Given the description of an element on the screen output the (x, y) to click on. 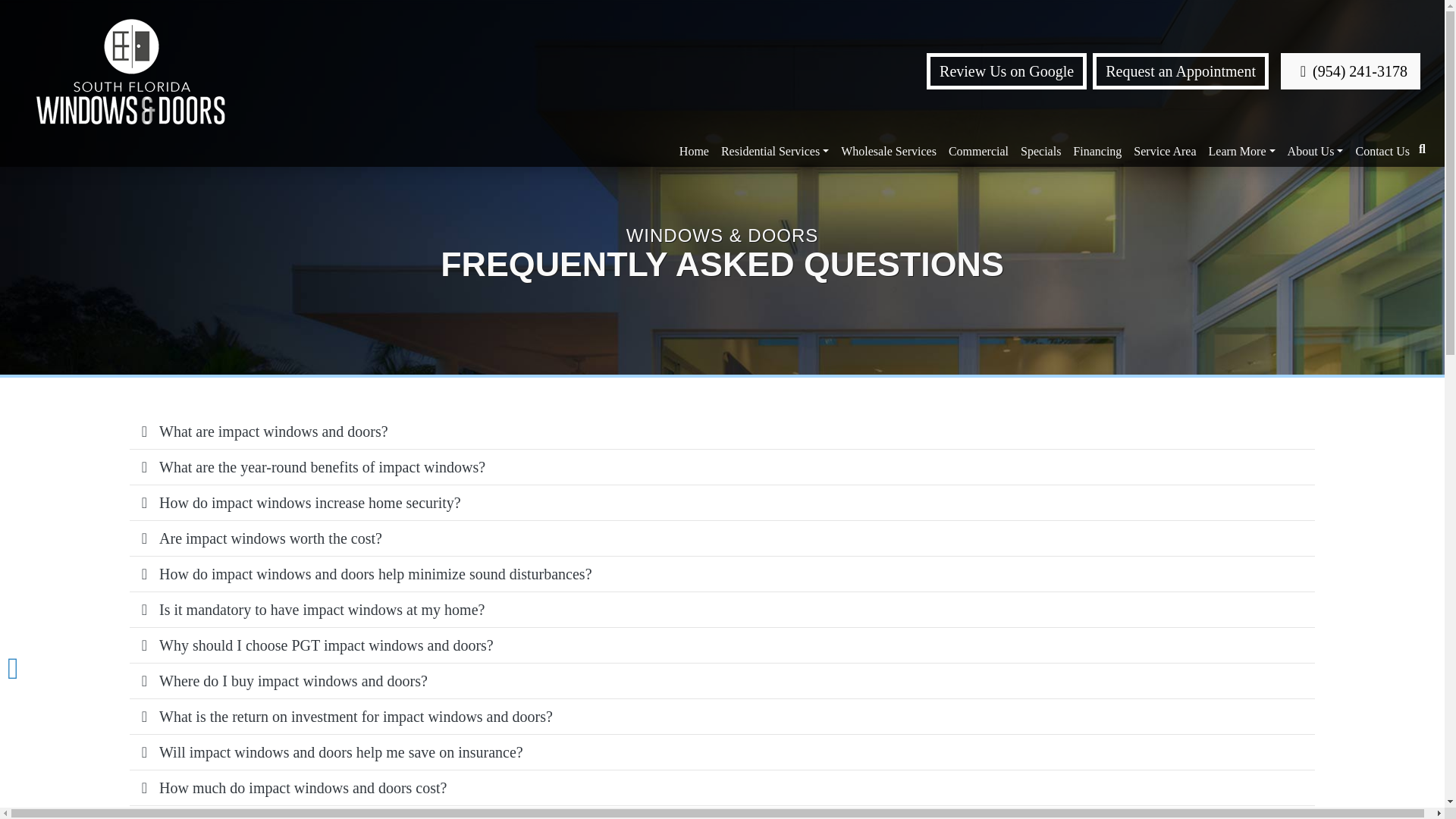
Service Area (1164, 151)
Residential Services (774, 151)
Request an Appointment (1180, 71)
Learn More (1241, 151)
Wholesale Services (888, 151)
About Us (1315, 151)
Commercial (978, 151)
Specials (1040, 151)
Review Us on Google (1006, 71)
Home (693, 151)
Financing (1096, 151)
